Given the description of an element on the screen output the (x, y) to click on. 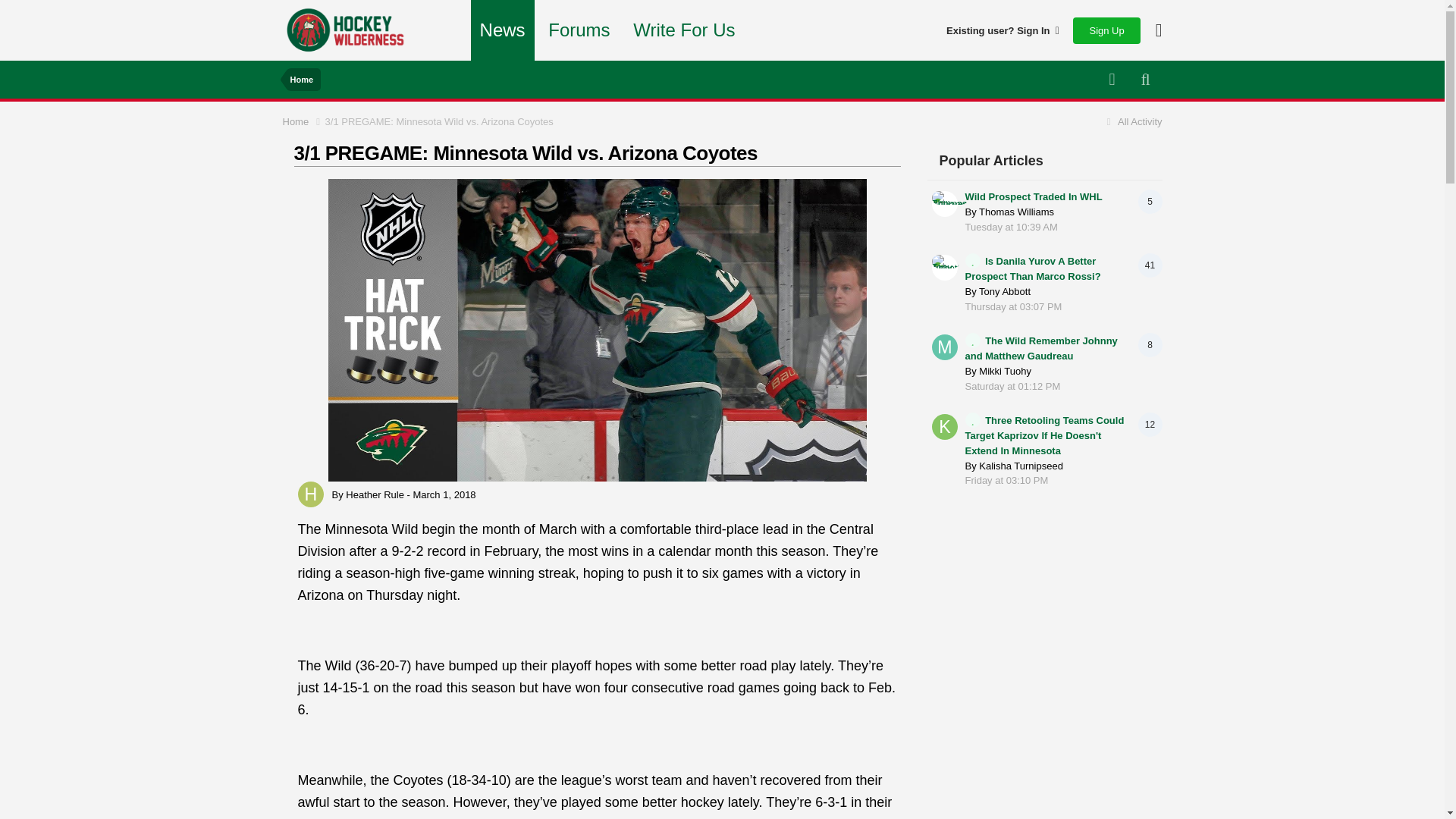
Write For Us (684, 30)
Home (303, 121)
Go to Heather Rule's profile (310, 493)
Home (303, 121)
Go to Heather Rule's profile (375, 494)
Heather Rule (375, 494)
Sign Up (1106, 29)
News (502, 30)
Forums (578, 30)
Existing user? Sign In   (1002, 30)
